Given the description of an element on the screen output the (x, y) to click on. 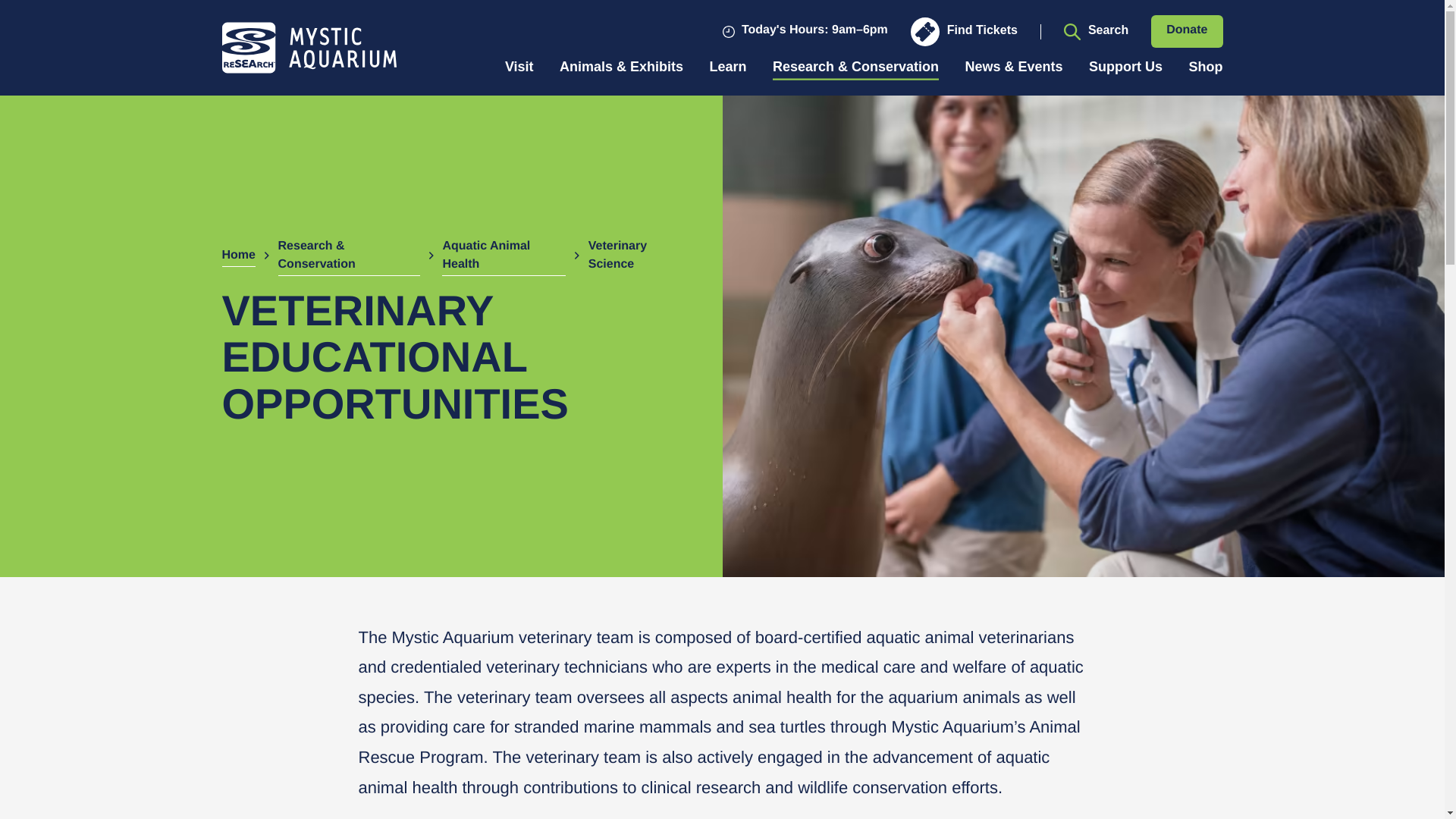
Donate (1187, 31)
Find Tickets (964, 30)
Back to home (308, 47)
Search (1096, 30)
